Given the description of an element on the screen output the (x, y) to click on. 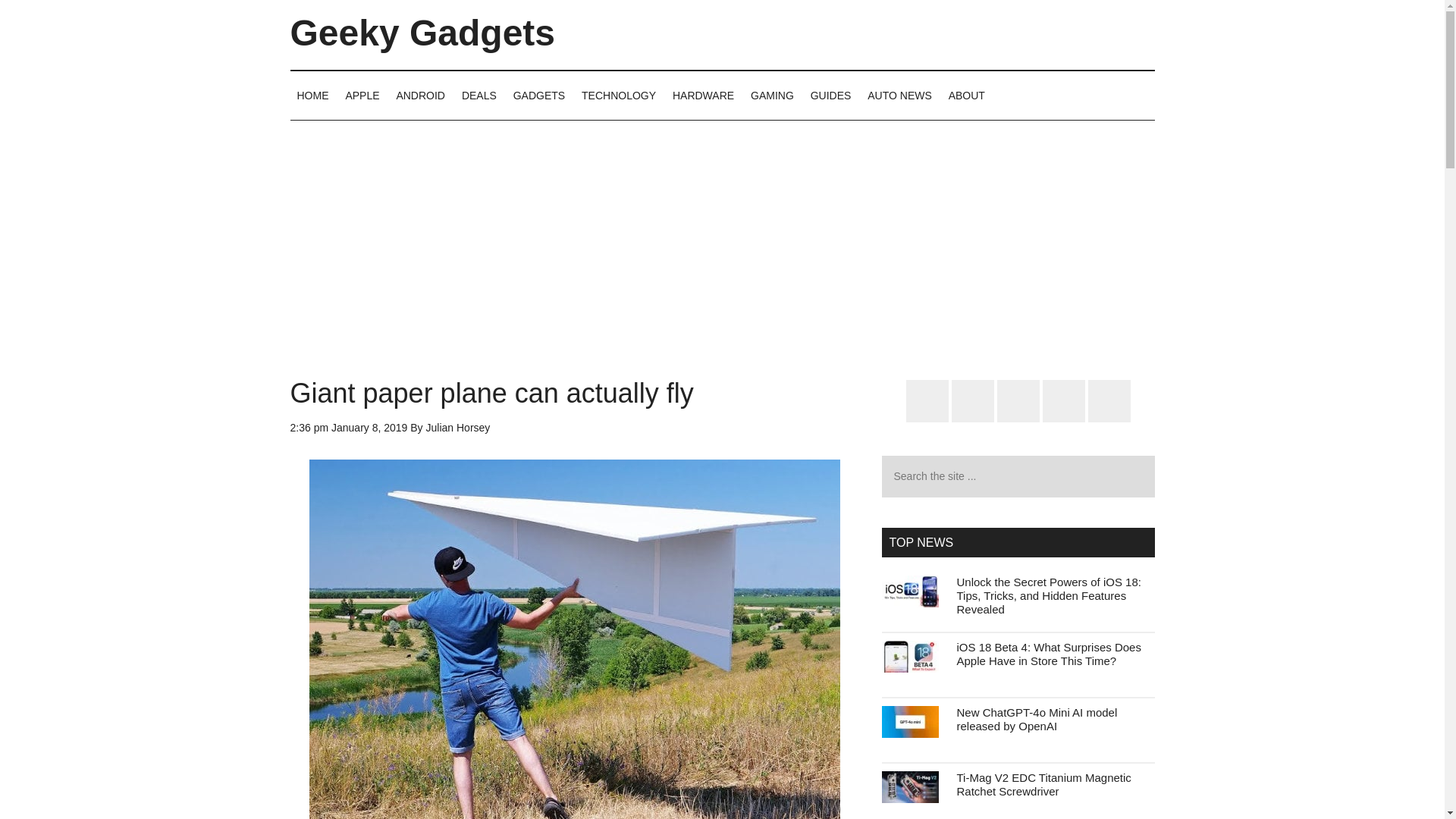
APPLE (361, 95)
Julian Horsey (458, 427)
About Geeky Gadgets (966, 95)
DEALS (478, 95)
HARDWARE (703, 95)
GAMING (772, 95)
HOME (311, 95)
ABOUT (966, 95)
ANDROID (419, 95)
New ChatGPT-4o Mini AI model released by OpenAI (1037, 718)
AUTO NEWS (899, 95)
